Given the description of an element on the screen output the (x, y) to click on. 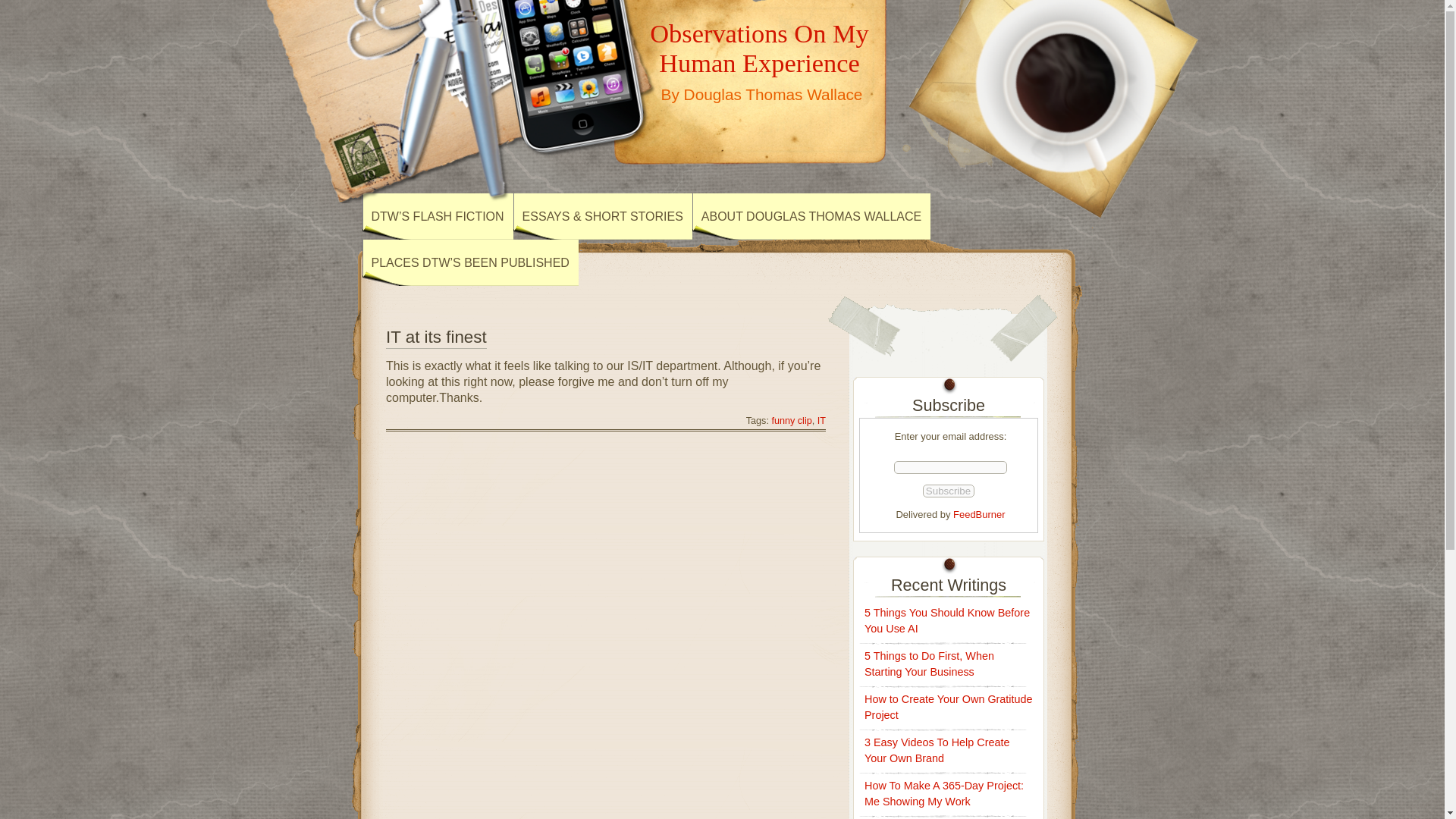
5 Things to Do First, When Starting Your Business (929, 664)
Observations On My Human Experience (758, 47)
FeedBurner (978, 514)
Subscribe (948, 490)
Subscribe (948, 490)
IT at its finest (435, 337)
How To Make A 365-Day Project: Me Showing My Work (943, 793)
5 Things You Should Know Before You Use AI (946, 620)
How to Create Your Own Gratitude Project (948, 706)
funny clip (790, 420)
Observations On My Human Experience (758, 47)
ABOUT DOUGLAS THOMAS WALLACE (811, 216)
3 Easy Videos To Help Create Your Own Brand (936, 750)
Permanent Link to IT at its finest (435, 337)
